Given the description of an element on the screen output the (x, y) to click on. 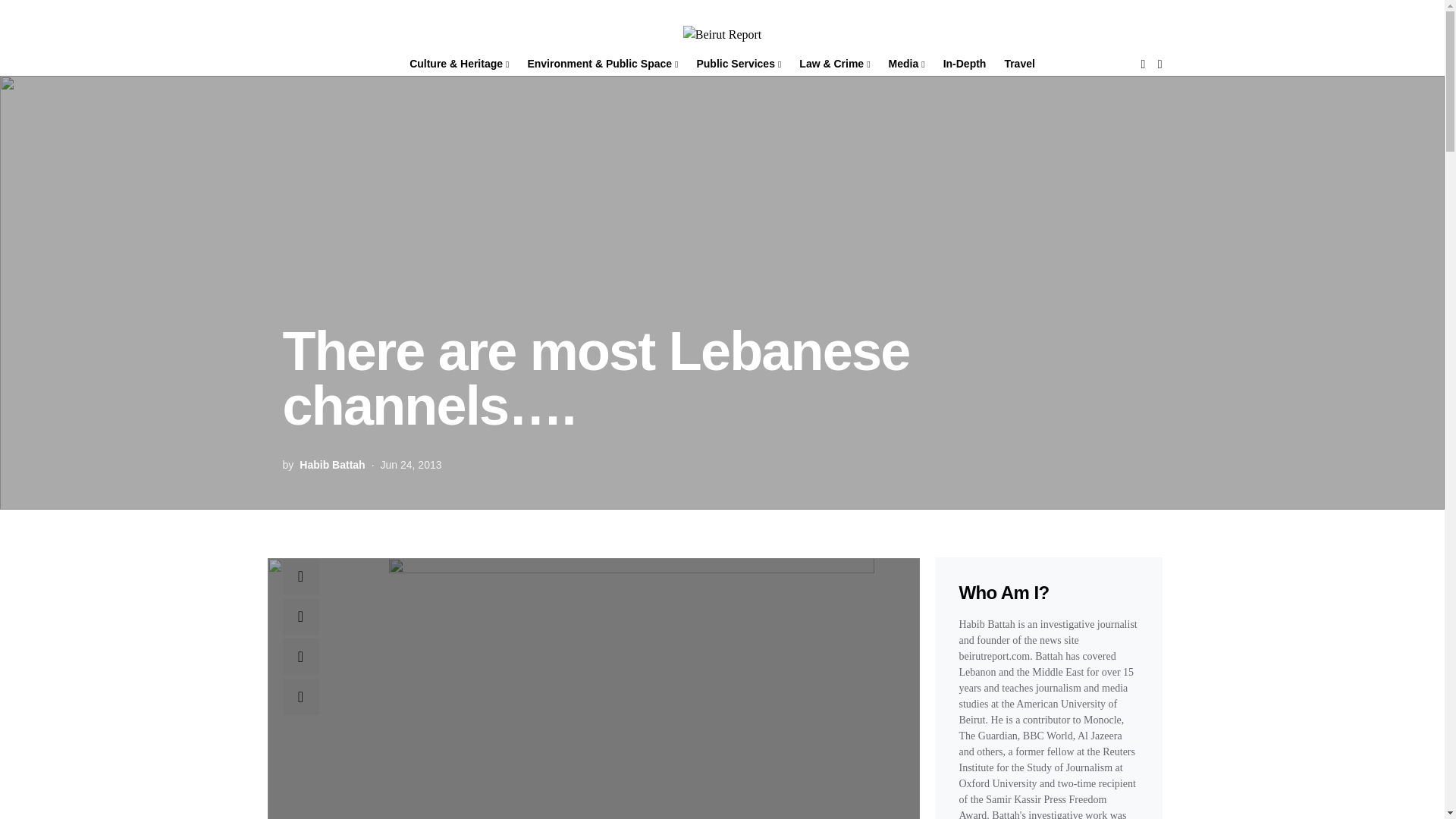
View all posts by Habib Battah (332, 464)
Media (906, 64)
Public Services (738, 64)
In-Depth (964, 64)
